Given the description of an element on the screen output the (x, y) to click on. 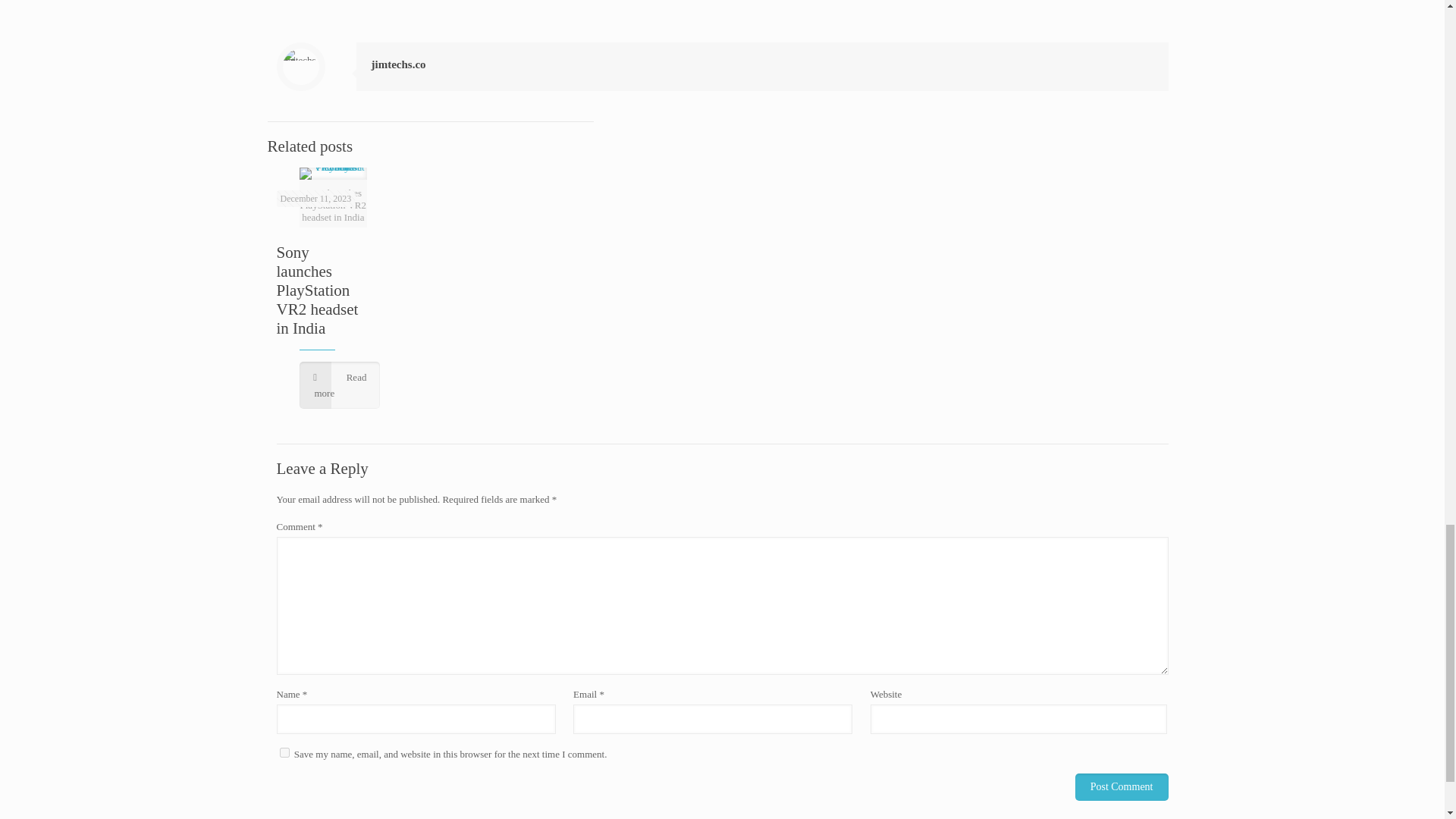
Post Comment (1122, 786)
jimtechs.co (398, 64)
Read more (339, 384)
yes (283, 752)
